Given the description of an element on the screen output the (x, y) to click on. 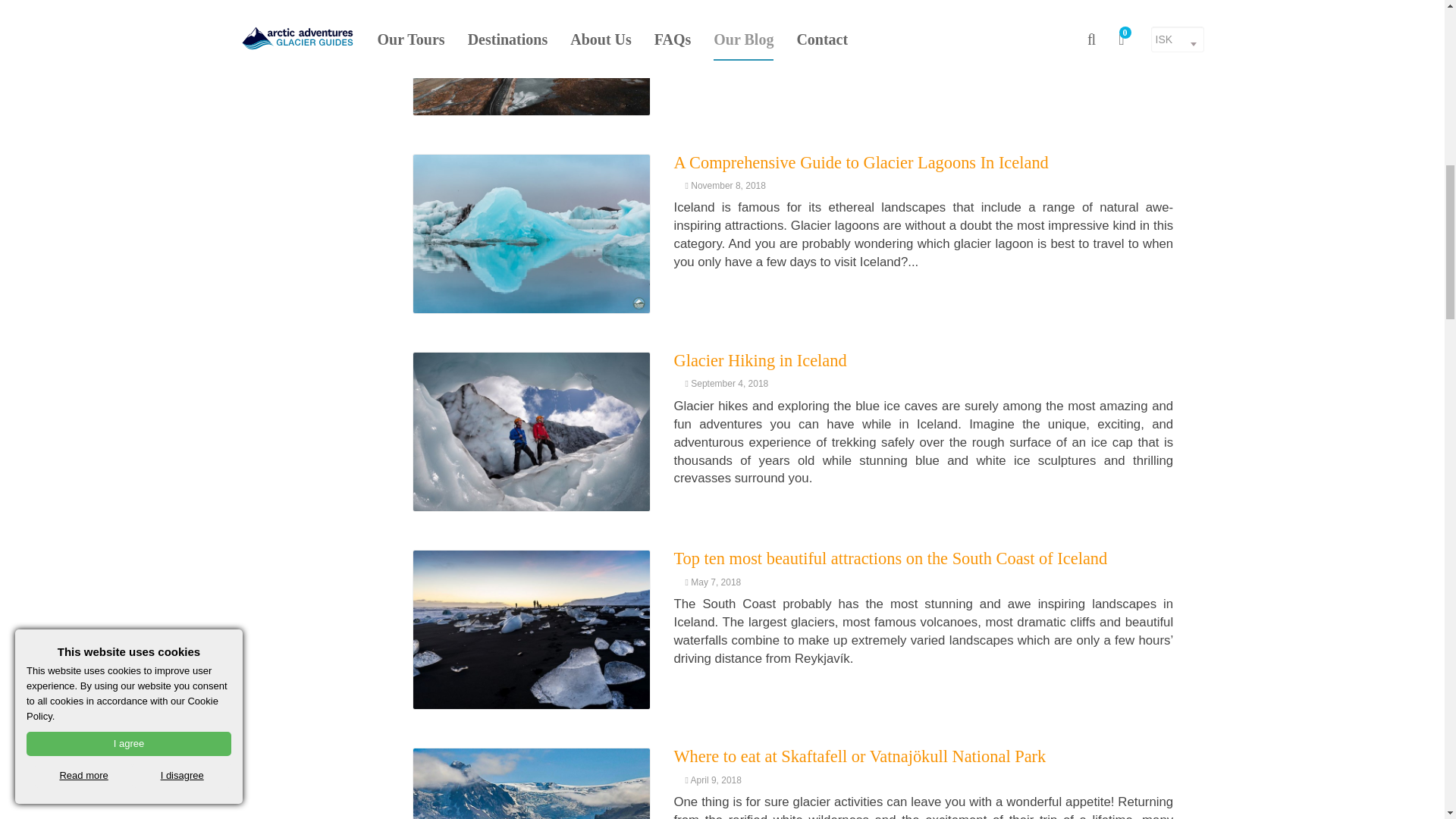
A Comprehensive Guide to Glacier Lagoons In Iceland (531, 233)
Glacier Hiking in Iceland (531, 431)
Glacier Hiking in Iceland (758, 360)
A Comprehensive Guide to Glacier Lagoons In Iceland (860, 162)
